Given the description of an element on the screen output the (x, y) to click on. 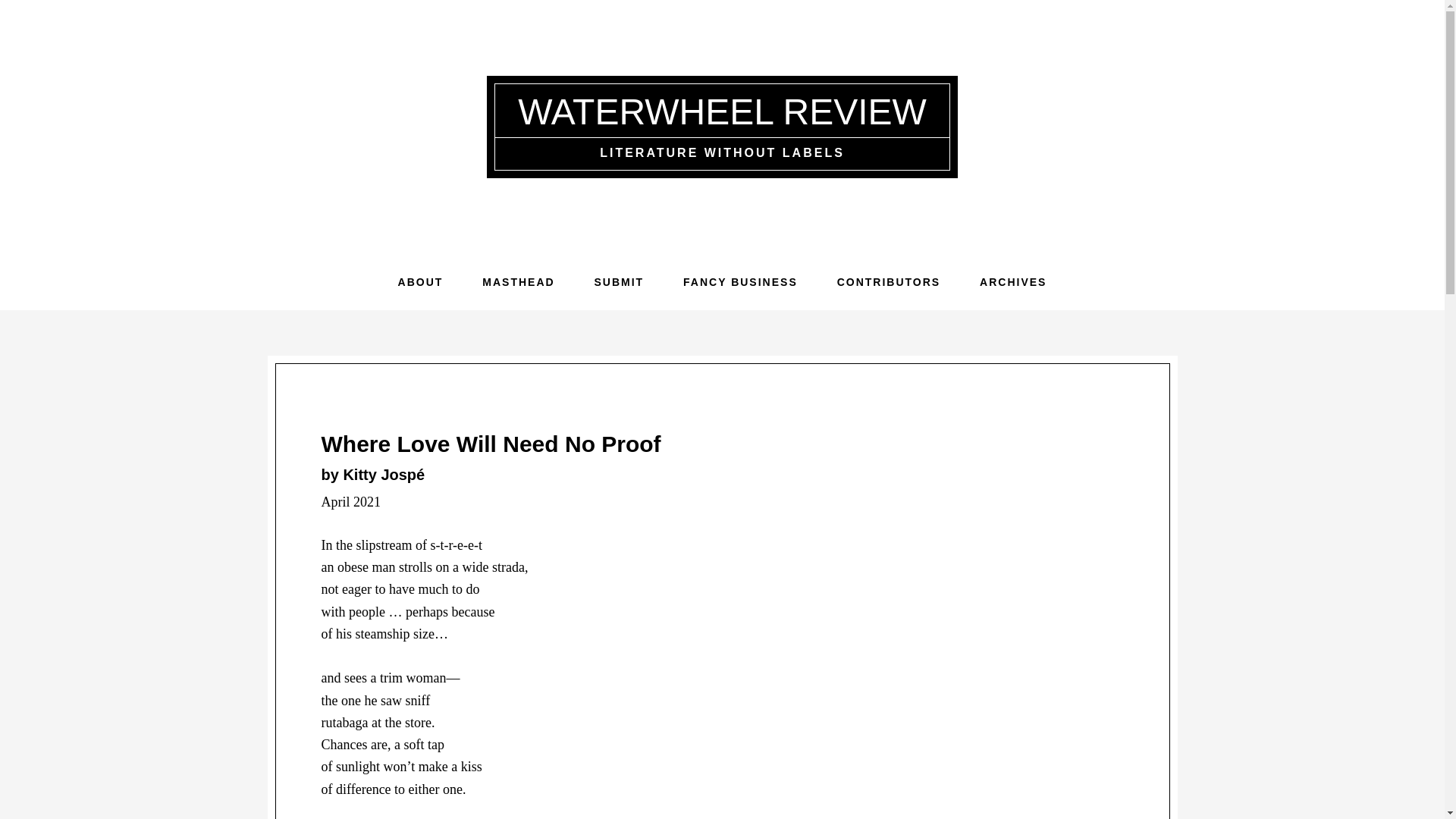
ABOUT (420, 281)
WATERWHEEL REVIEW (722, 111)
MASTHEAD (518, 281)
SUBMIT (619, 281)
ARCHIVES (1012, 281)
FANCY BUSINESS (740, 281)
CONTRIBUTORS (888, 281)
